Given the description of an element on the screen output the (x, y) to click on. 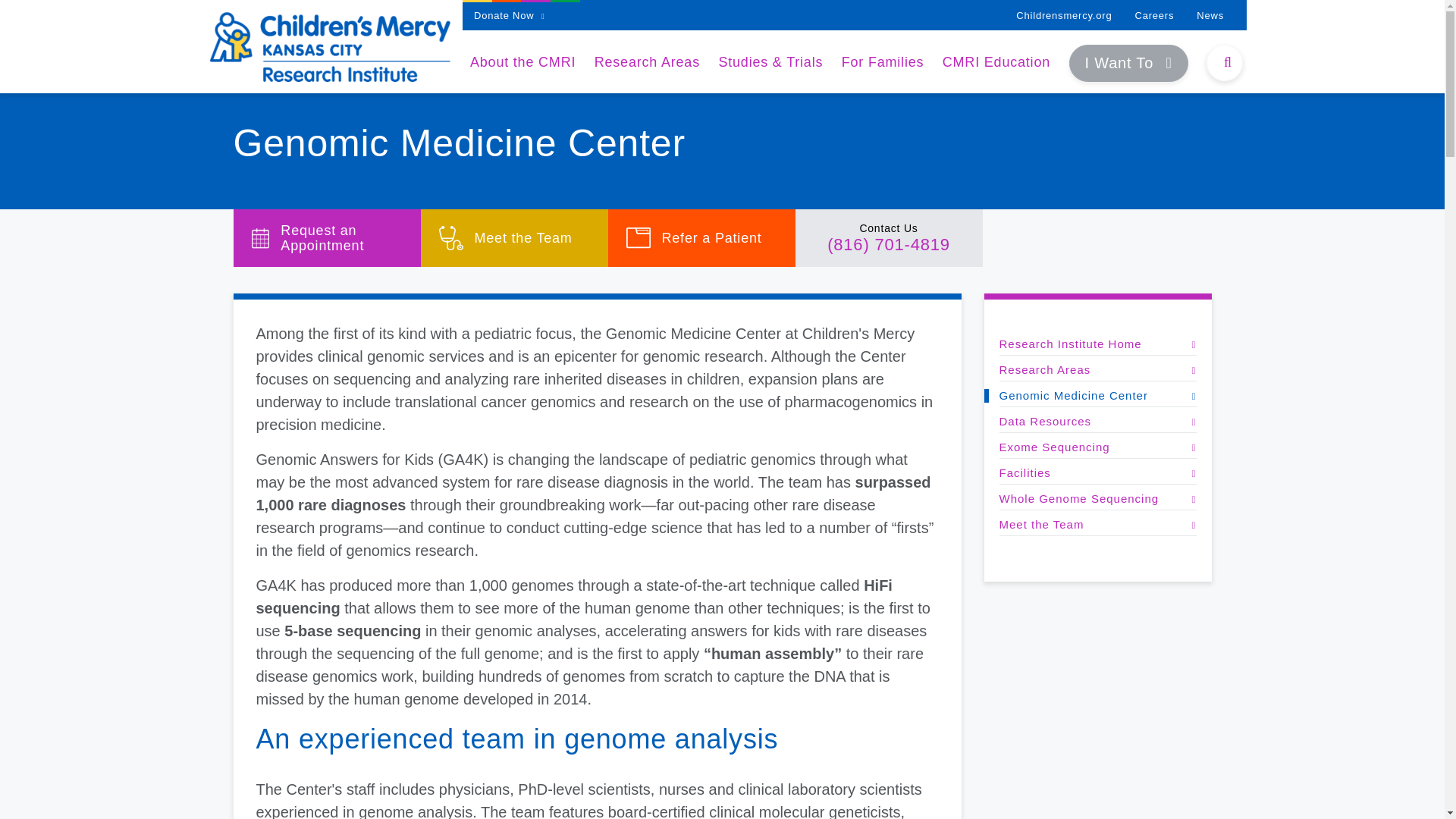
About the CMRI (522, 61)
CMRI Education (995, 61)
About the CMRI (522, 61)
Research Areas (647, 61)
News (1210, 15)
Research Areas (647, 61)
For Families (882, 61)
Careers (1153, 15)
I Want To (1128, 63)
For Families (882, 61)
Donate Now (509, 15)
Childrensmercy.org (1064, 15)
Careers (1153, 15)
Childrensmercy.org (1064, 15)
Donate Now (509, 15)
